Given the description of an element on the screen output the (x, y) to click on. 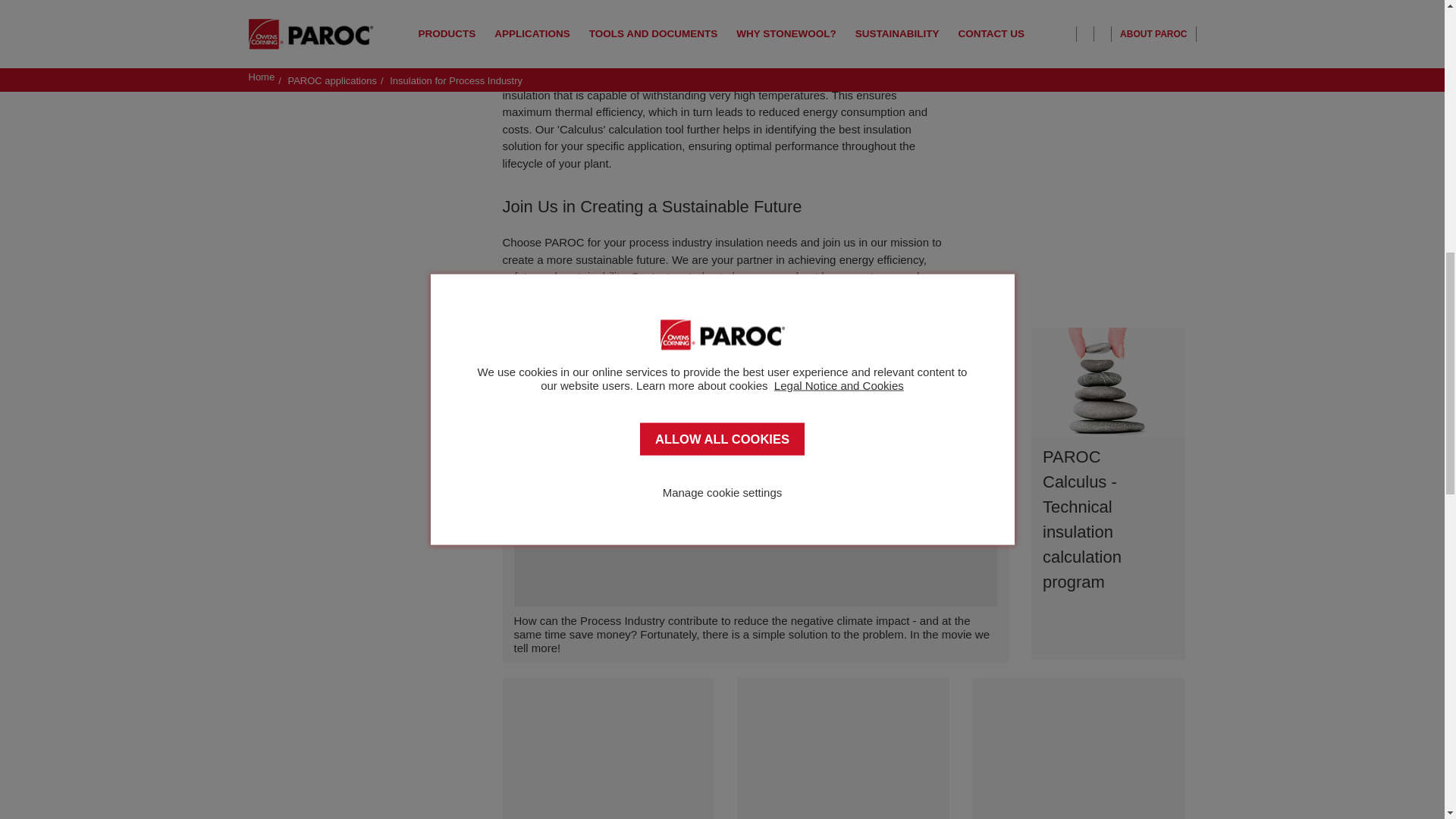
PAROC Calculus - Technical insulation calculation program (1107, 493)
